Given the description of an element on the screen output the (x, y) to click on. 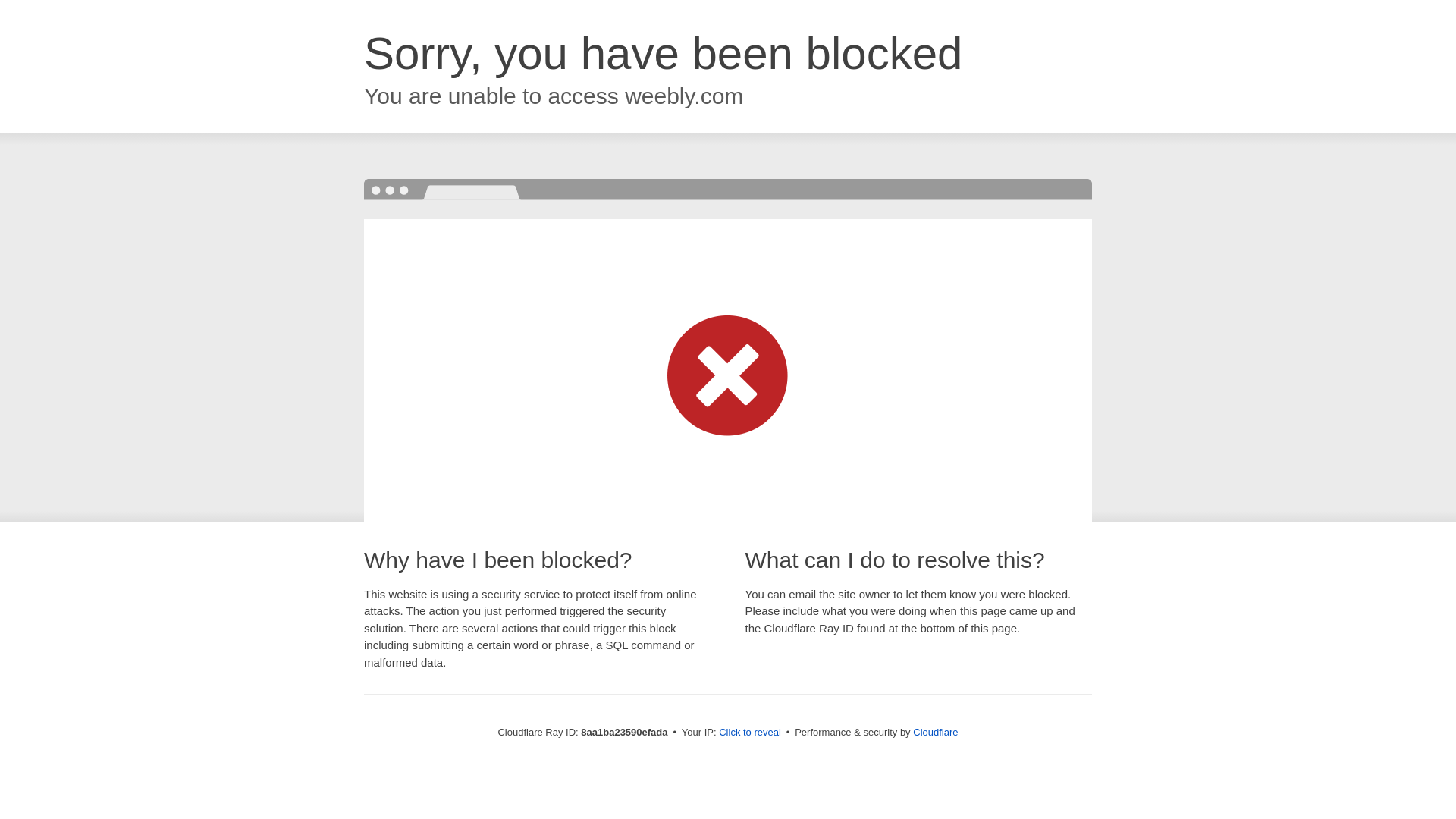
Click to reveal (749, 732)
Cloudflare (935, 731)
